Given the description of an element on the screen output the (x, y) to click on. 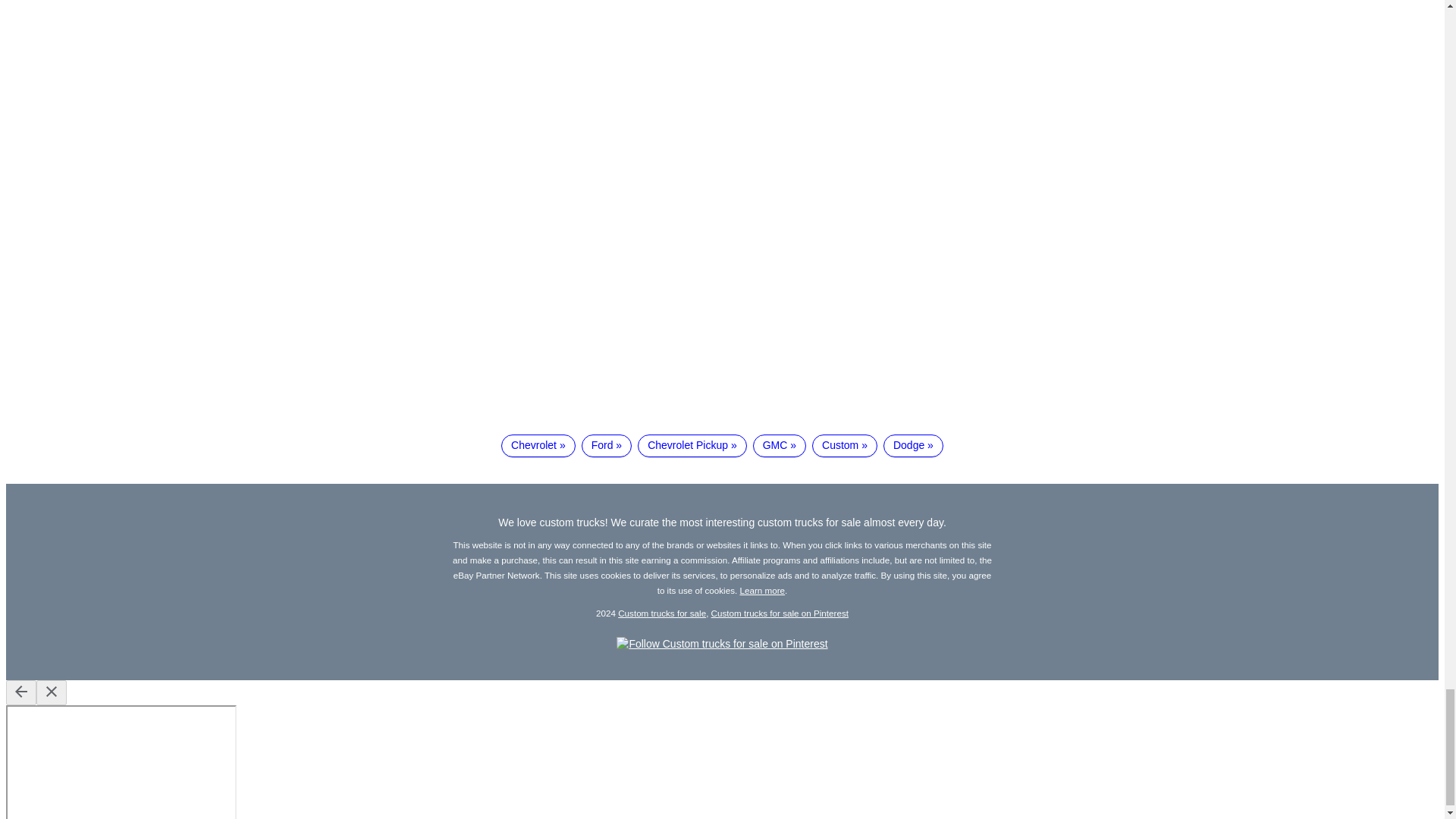
GMC (779, 445)
Custom (844, 445)
Follow Custom trucks for sale on Pinterest (721, 644)
Chevrolet Pickup (691, 445)
Custom trucks for sale (661, 613)
Dodge (913, 445)
Custom trucks for sale on Pinterest (779, 613)
Learn more (762, 590)
Chevrolet (537, 445)
Ford (605, 445)
